Given the description of an element on the screen output the (x, y) to click on. 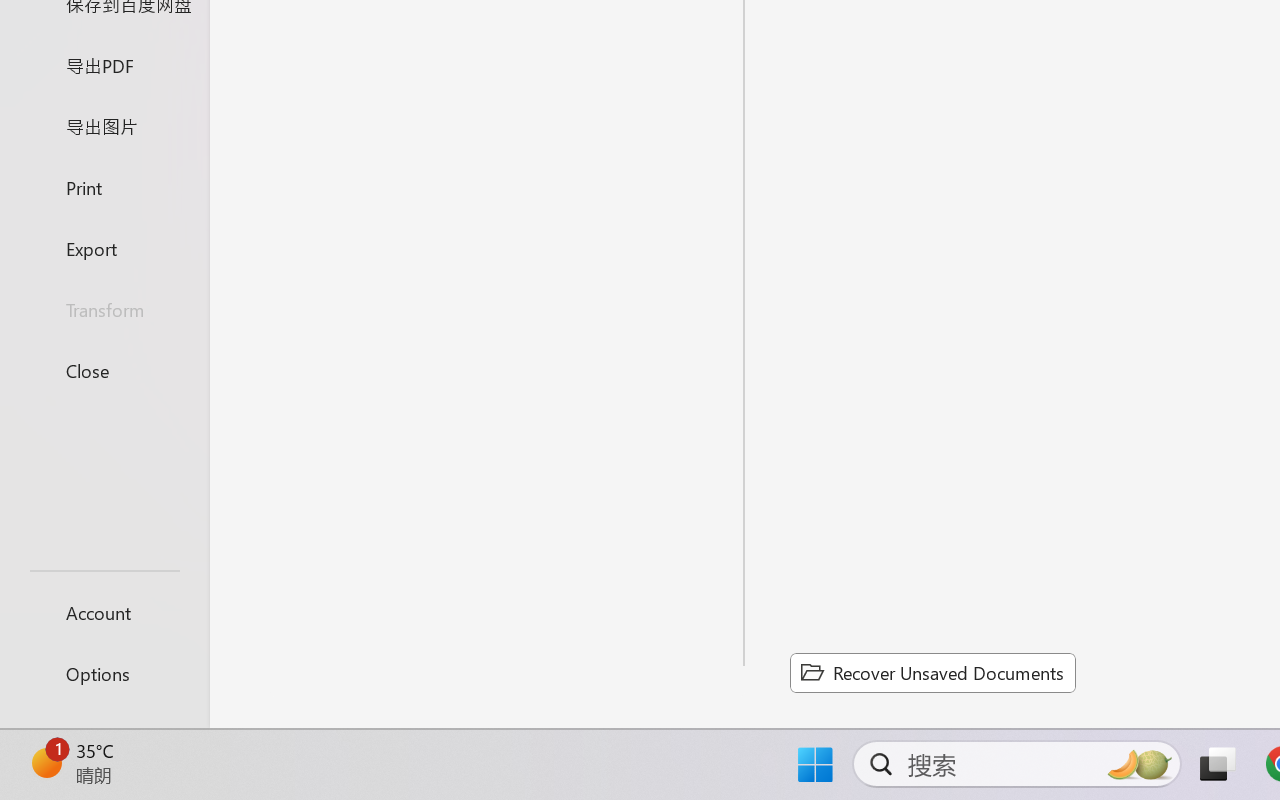
Print (104, 186)
Transform (104, 309)
Export (104, 248)
Recover Unsaved Documents (932, 672)
Options (104, 673)
Account (104, 612)
